Given the description of an element on the screen output the (x, y) to click on. 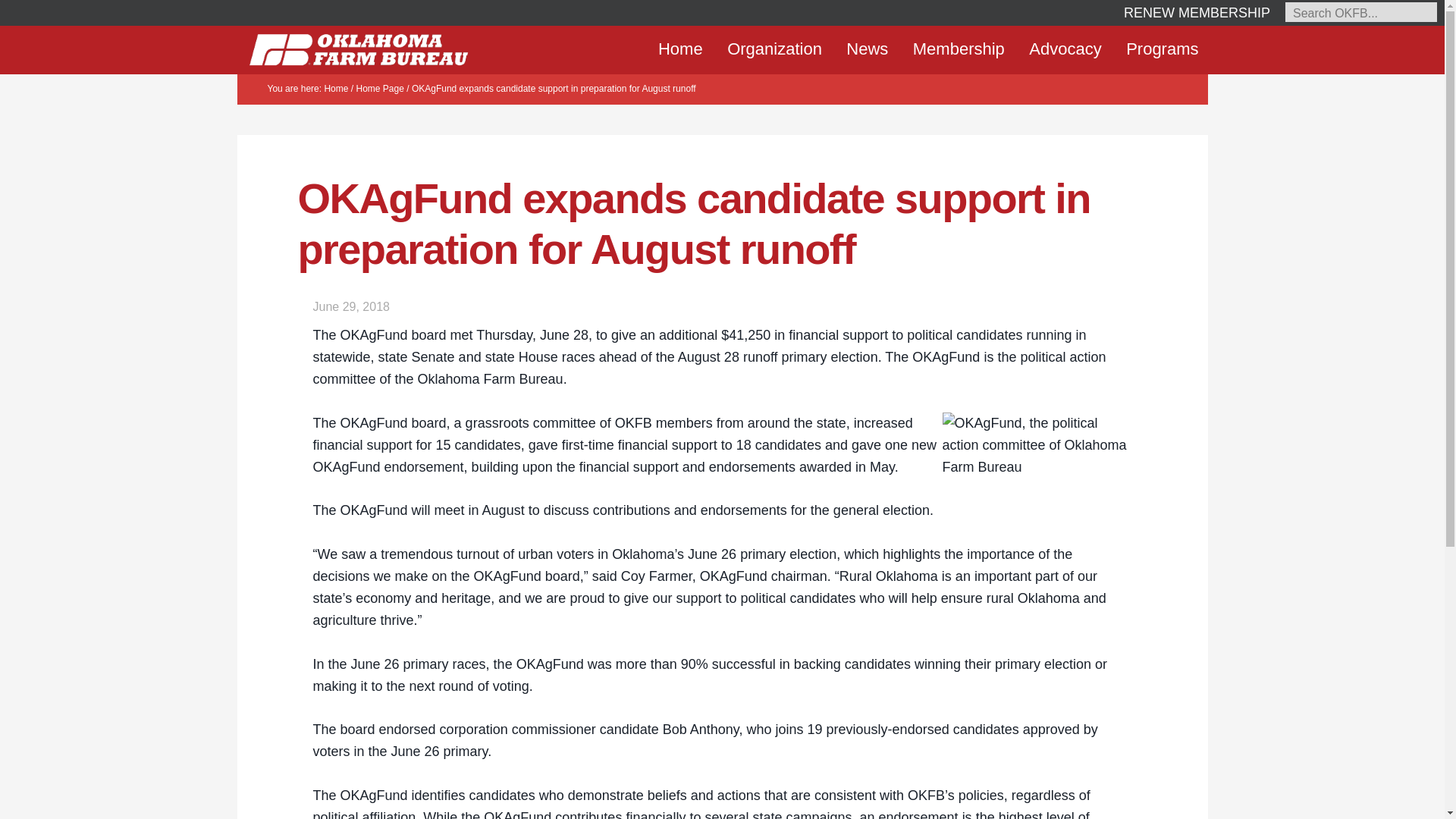
Home (680, 48)
Oklahoma Farm Bureau (357, 49)
News (866, 48)
RENEW MEMBERSHIP (1196, 12)
Organization (774, 48)
Search (50, 129)
Advocacy (1064, 48)
Membership (958, 48)
